Given the description of an element on the screen output the (x, y) to click on. 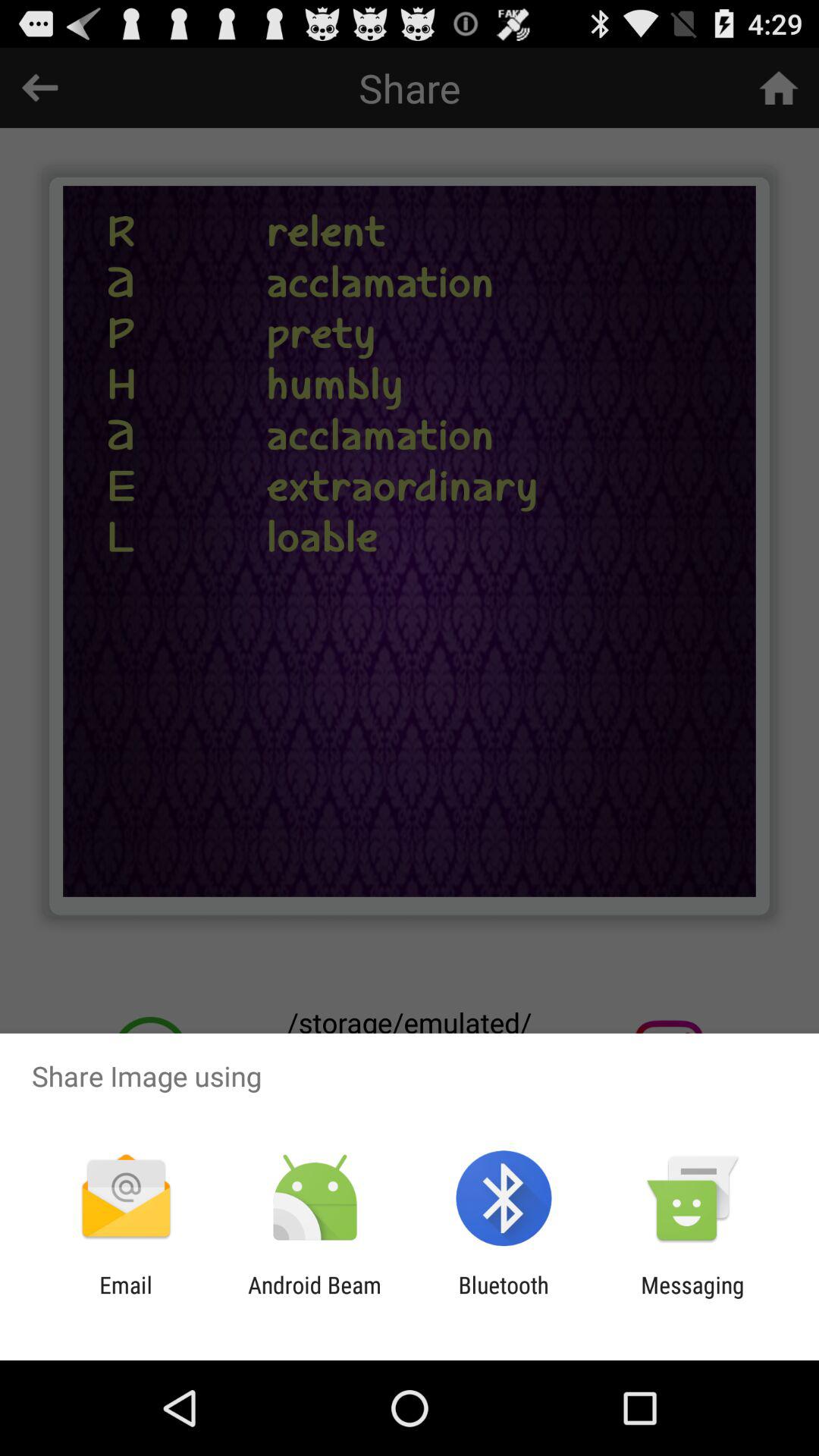
click the app to the left of the bluetooth (314, 1298)
